Given the description of an element on the screen output the (x, y) to click on. 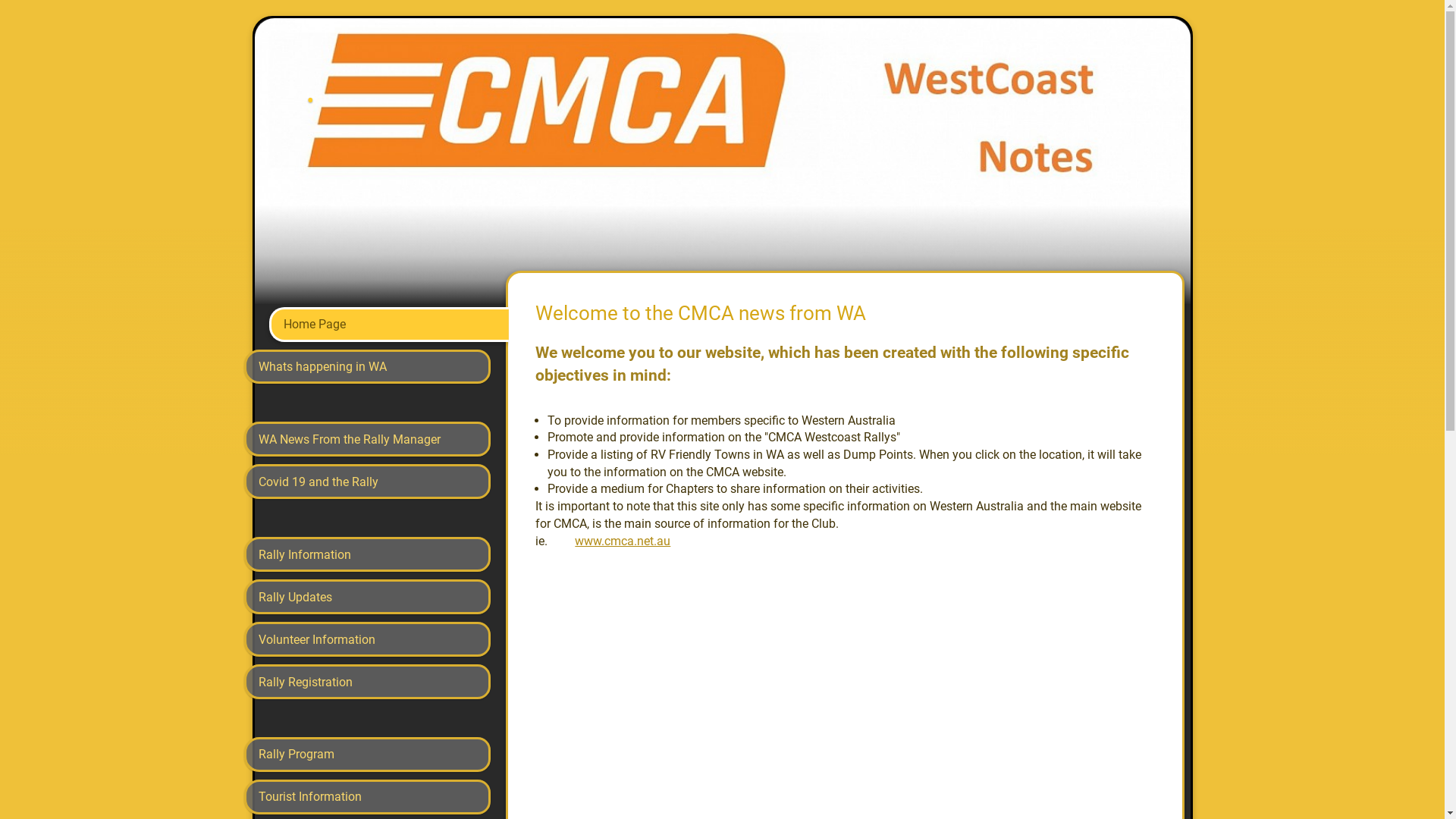
Rally Registration Element type: text (366, 681)
www.cmca.net.au Element type: text (622, 540)
Volunteer Information Element type: text (366, 638)
Rally Program Element type: text (366, 754)
Covid 19 and the Rally Element type: text (366, 481)
WA News From the Rally Manager Element type: text (366, 438)
Rally Updates Element type: text (366, 596)
Home Page Element type: text (388, 324)
Tourist Information Element type: text (366, 796)
Whats happening in WA Element type: text (366, 365)
Rally Information Element type: text (366, 553)
